Given the description of an element on the screen output the (x, y) to click on. 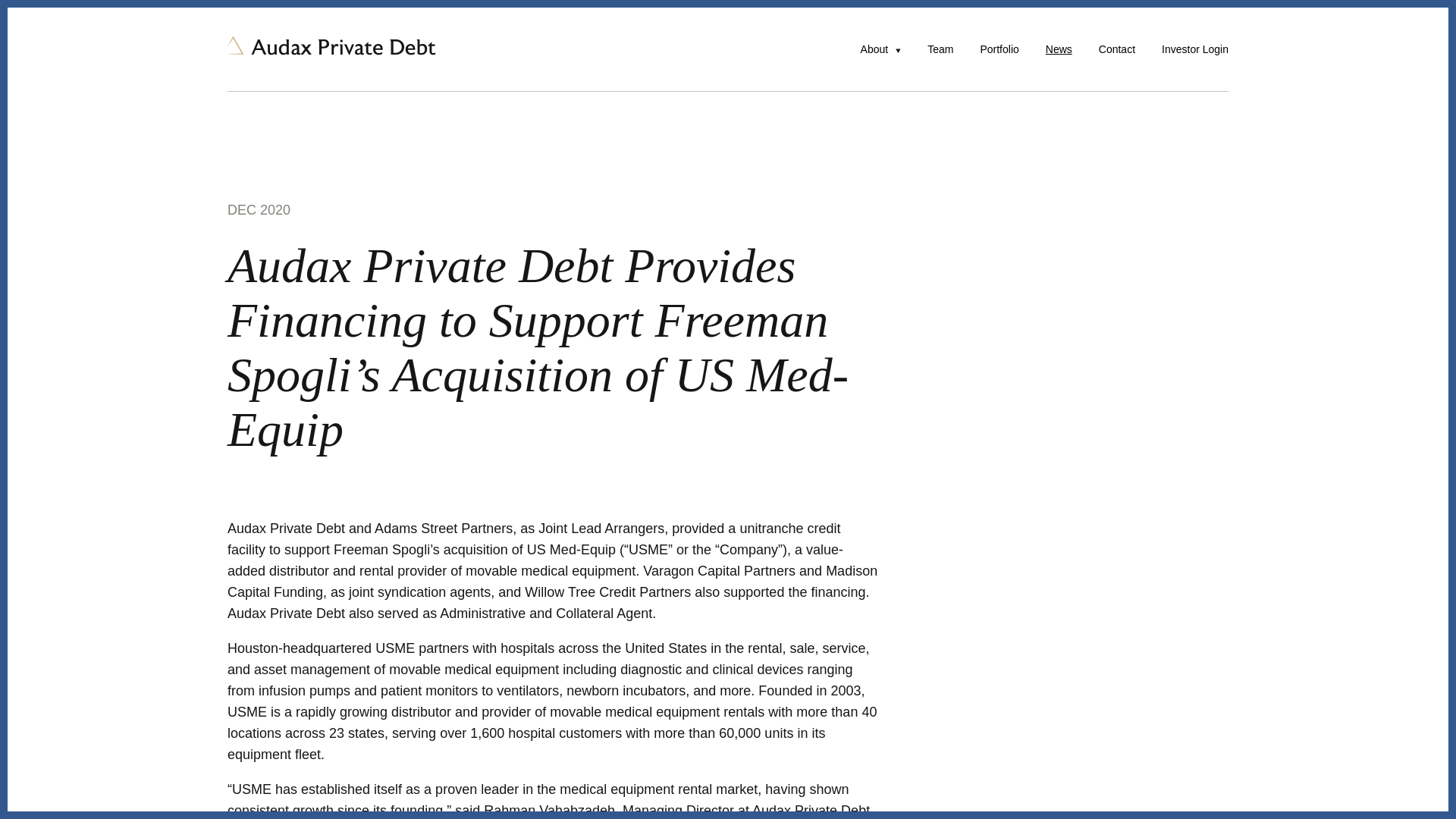
Investor Login (1194, 49)
News (1058, 49)
Portfolio (998, 49)
Contact (1117, 49)
About (874, 49)
Team (940, 49)
